Given the description of an element on the screen output the (x, y) to click on. 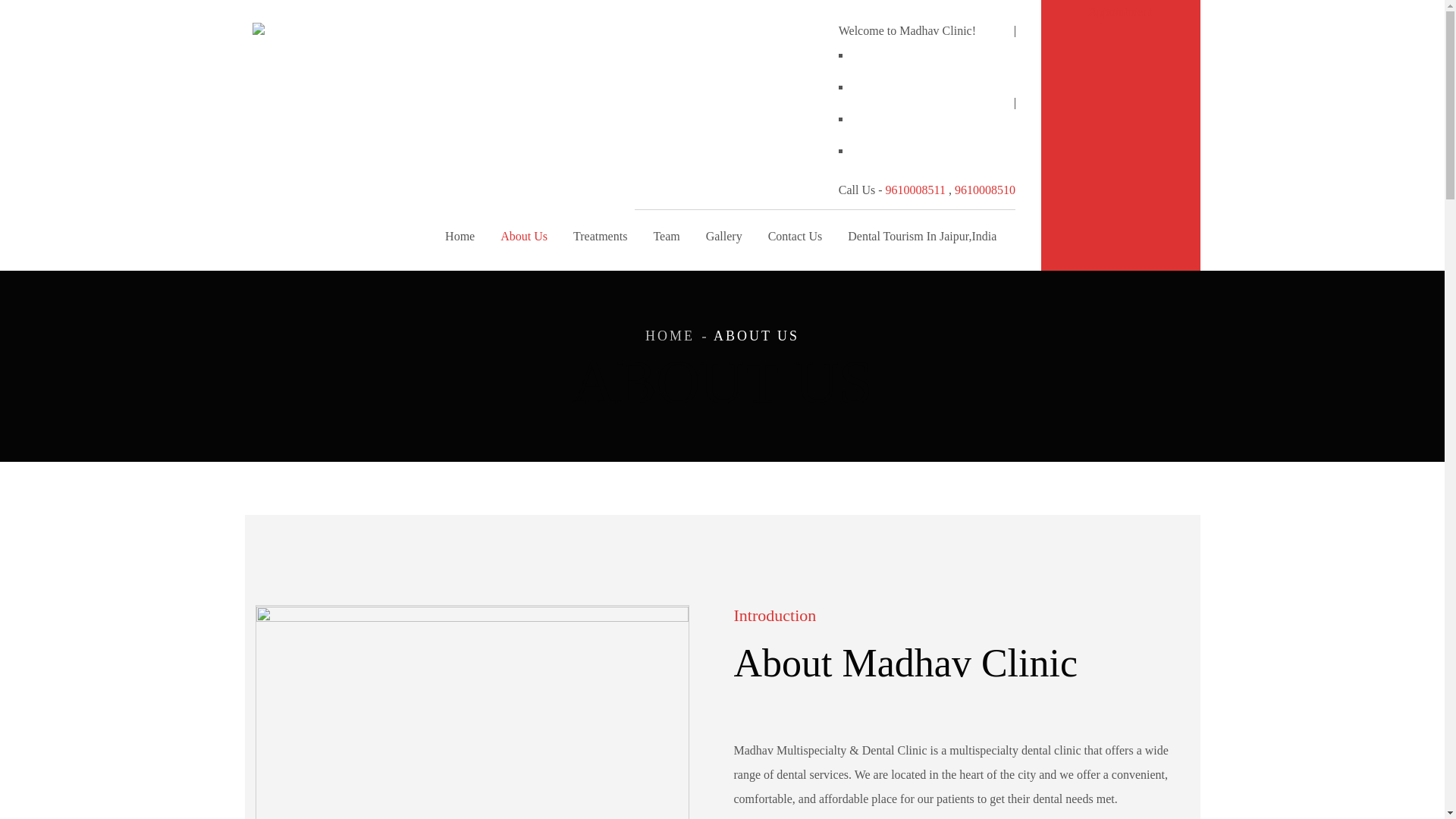
9610008511 (914, 189)
Appointment (1119, 11)
Appointment (1119, 11)
About Us (524, 242)
Dental Tourism In Jaipur,India (921, 242)
Home (459, 242)
HOME (669, 335)
9610008510 (984, 189)
Contact Us (795, 242)
Gallery (724, 242)
